Given the description of an element on the screen output the (x, y) to click on. 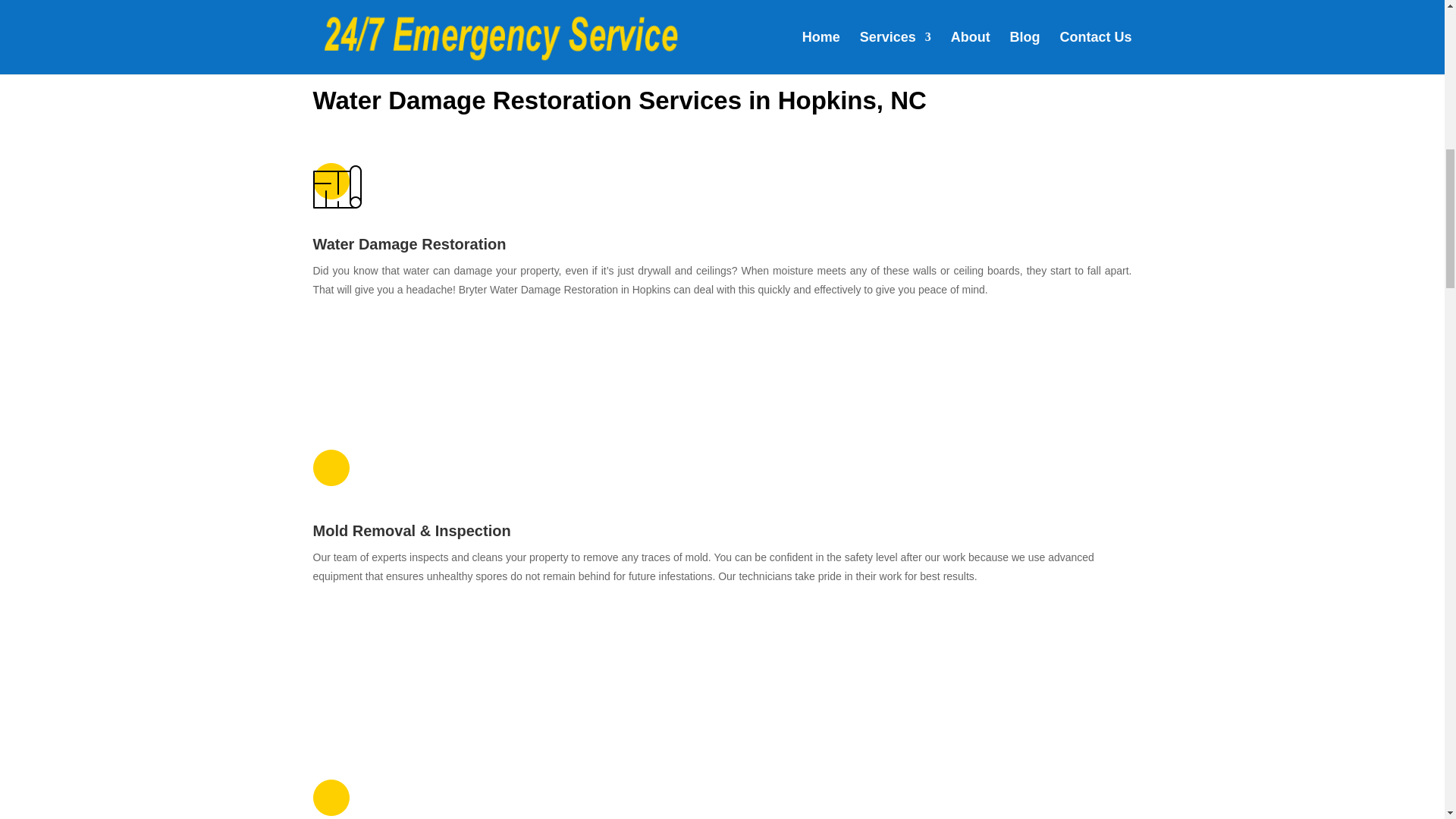
Mold Cleanup Wilmington NC (426, 662)
Bryter-1556x526 (722, 12)
Burst Water Pipe Repair Wilmington NC (426, 374)
